Given the description of an element on the screen output the (x, y) to click on. 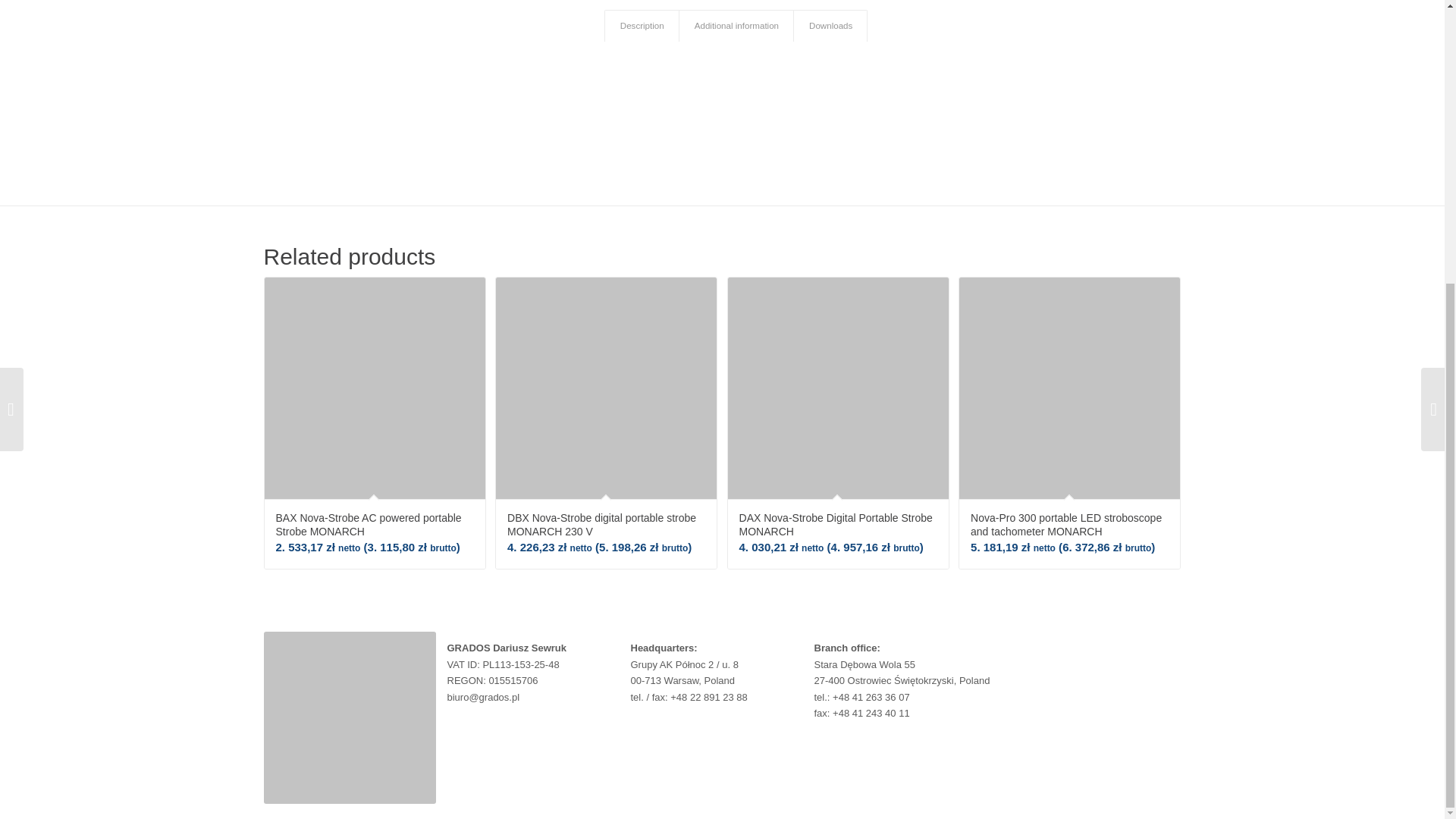
Downloads (830, 25)
Additional information (735, 25)
Description (641, 25)
logo-en-small (349, 717)
